Given the description of an element on the screen output the (x, y) to click on. 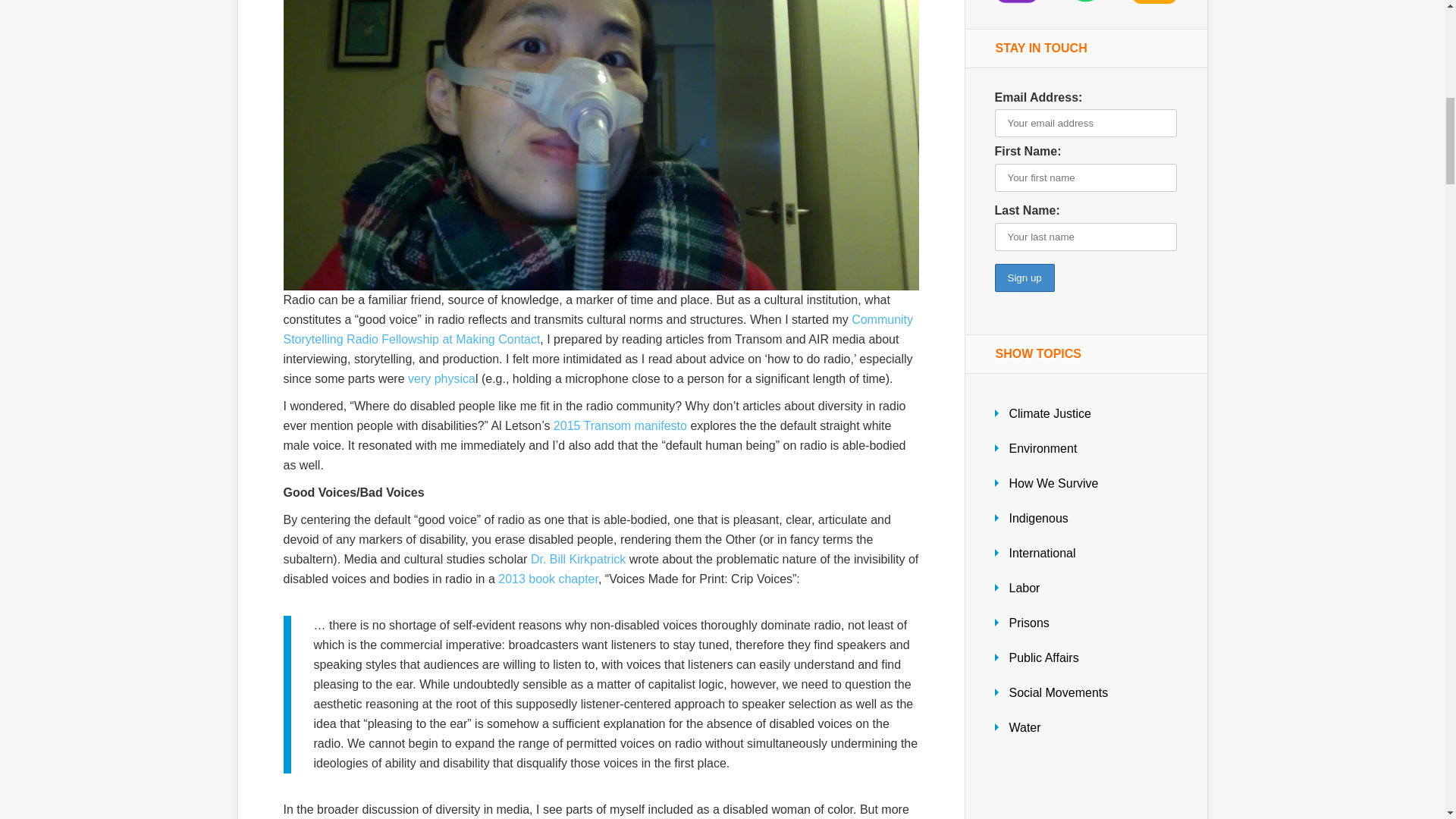
Sign up (1024, 277)
